Given the description of an element on the screen output the (x, y) to click on. 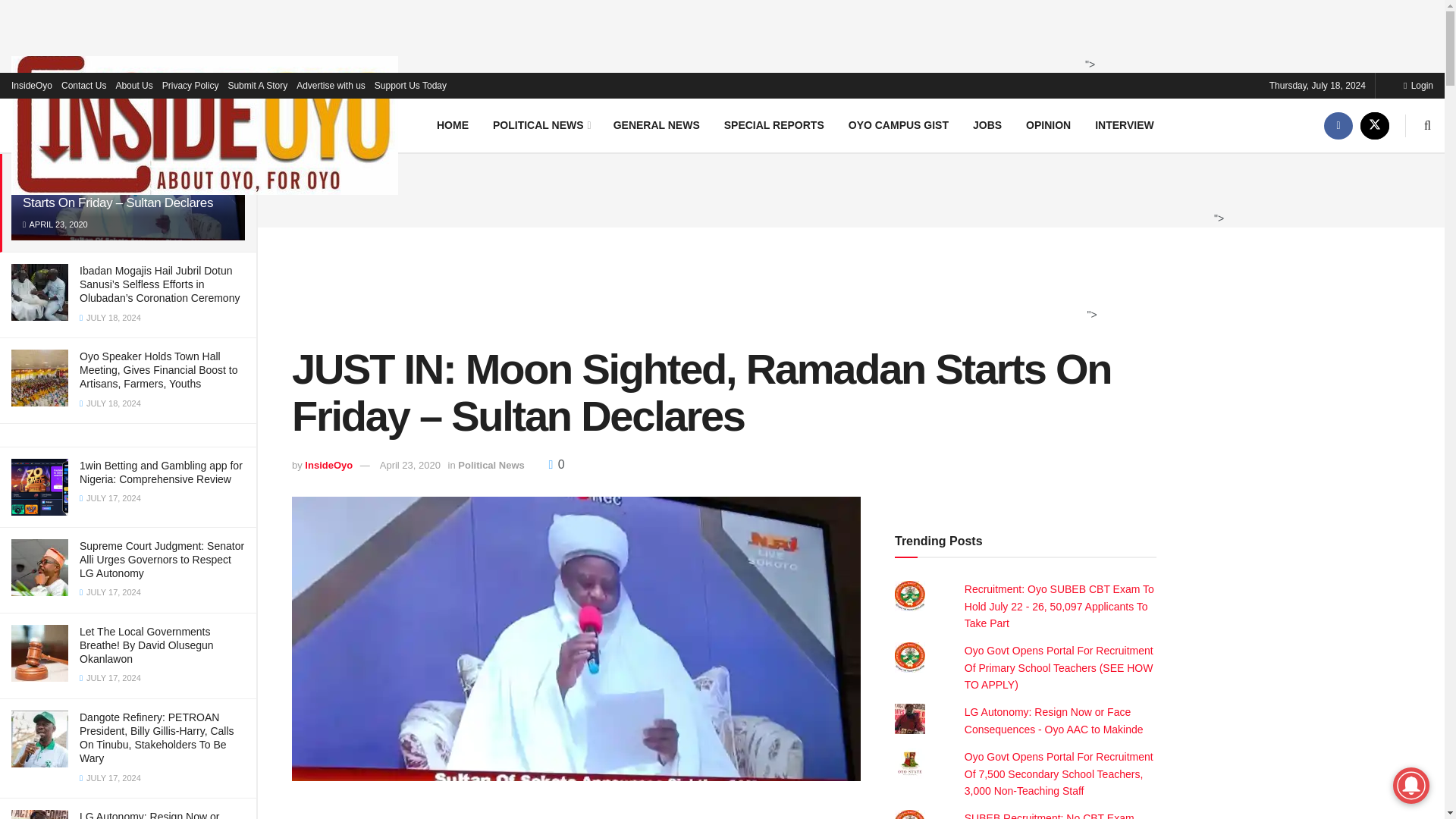
InsideOyo (31, 85)
Advertisement (716, 33)
Advertisement (571, 811)
Filter (227, 96)
Advertisement (846, 187)
Submit A Story (256, 85)
Support Us Today (410, 85)
Privacy Policy (190, 85)
Advertise with us (331, 85)
HOME (452, 125)
